Given the description of an element on the screen output the (x, y) to click on. 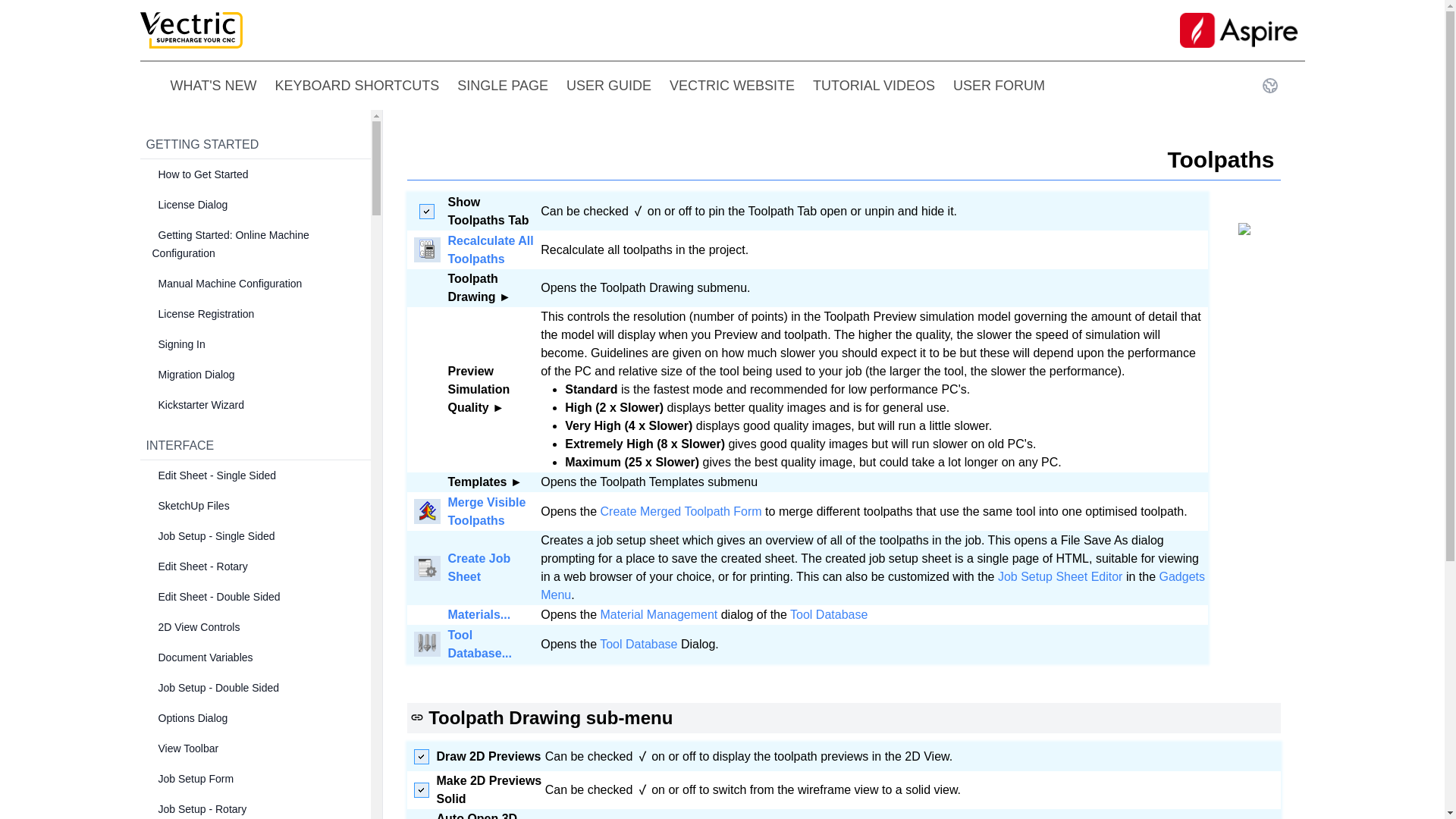
SINGLE PAGE (502, 85)
USER FORUM (999, 85)
USER GUIDE (608, 85)
VECTRIC WEBSITE (731, 85)
KEYBOARD SHORTCUTS (357, 85)
TUTORIAL VIDEOS (873, 85)
WHAT'S NEW (213, 85)
